Given the description of an element on the screen output the (x, y) to click on. 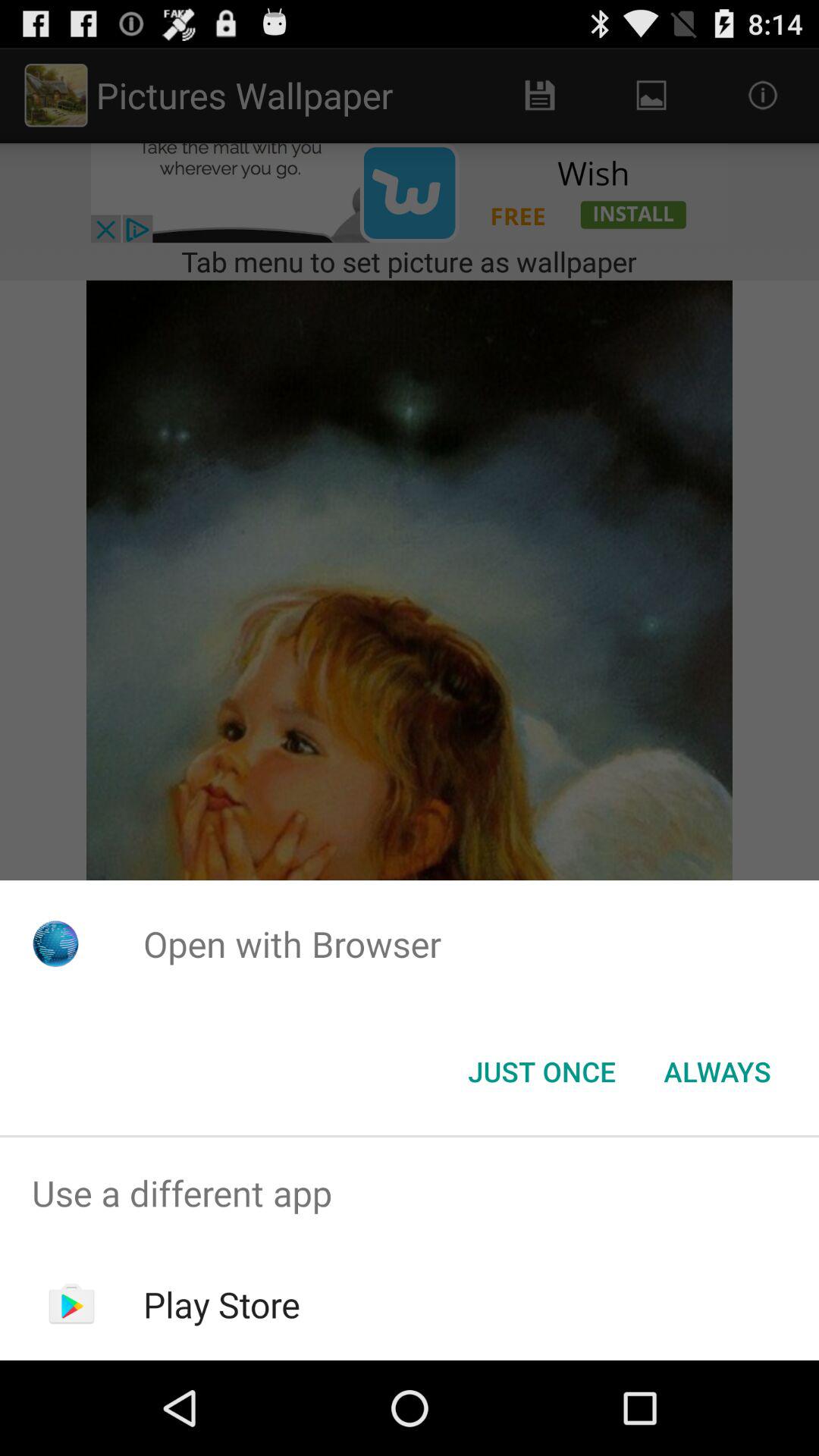
choose play store icon (221, 1304)
